Given the description of an element on the screen output the (x, y) to click on. 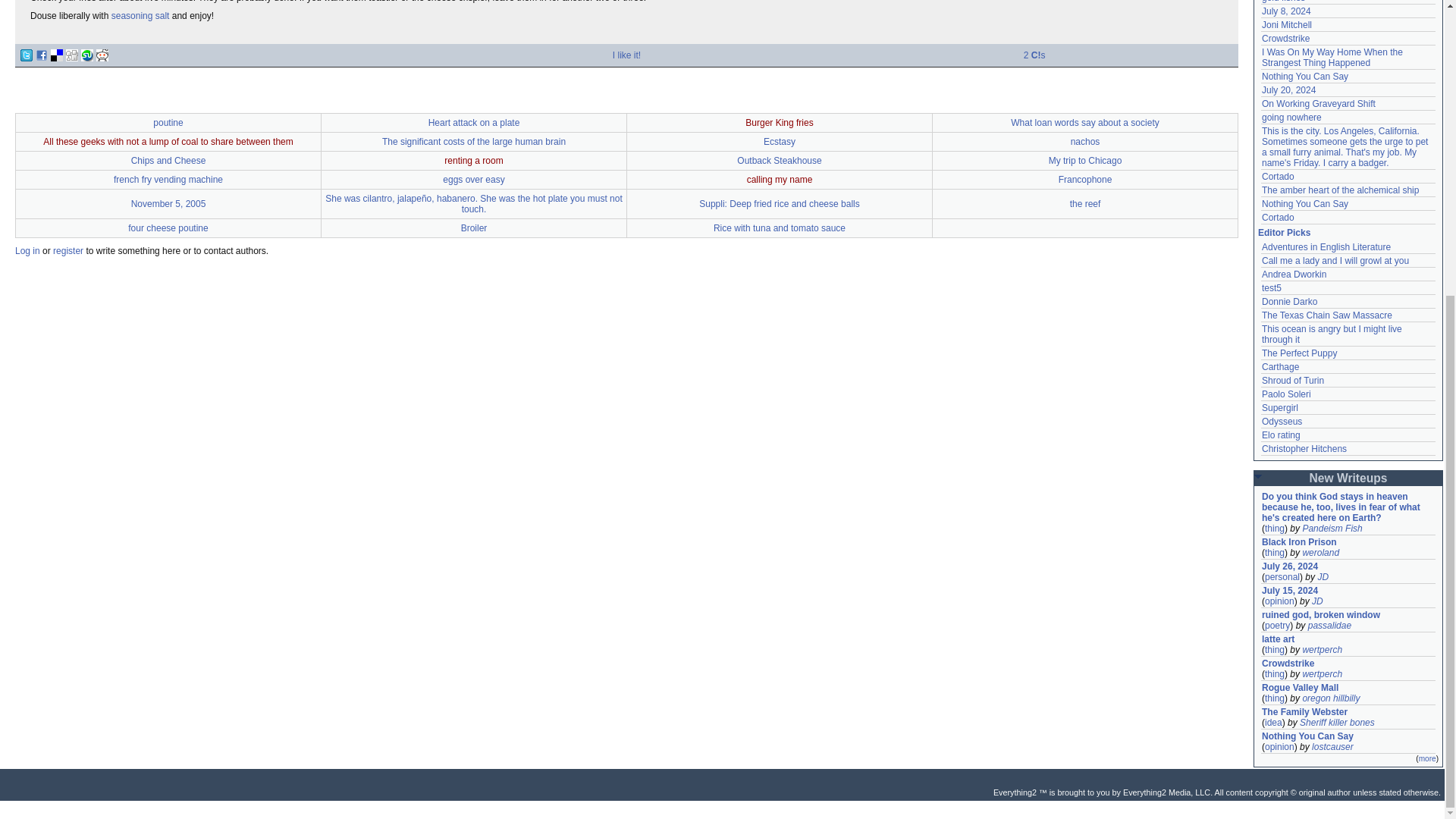
Burger King fries (778, 122)
Heart attack on a plate (473, 122)
What loan words say about a society (1084, 122)
seasoning salt (141, 15)
2 C!s (1034, 54)
poutine (167, 122)
I like it! (626, 54)
